Given the description of an element on the screen output the (x, y) to click on. 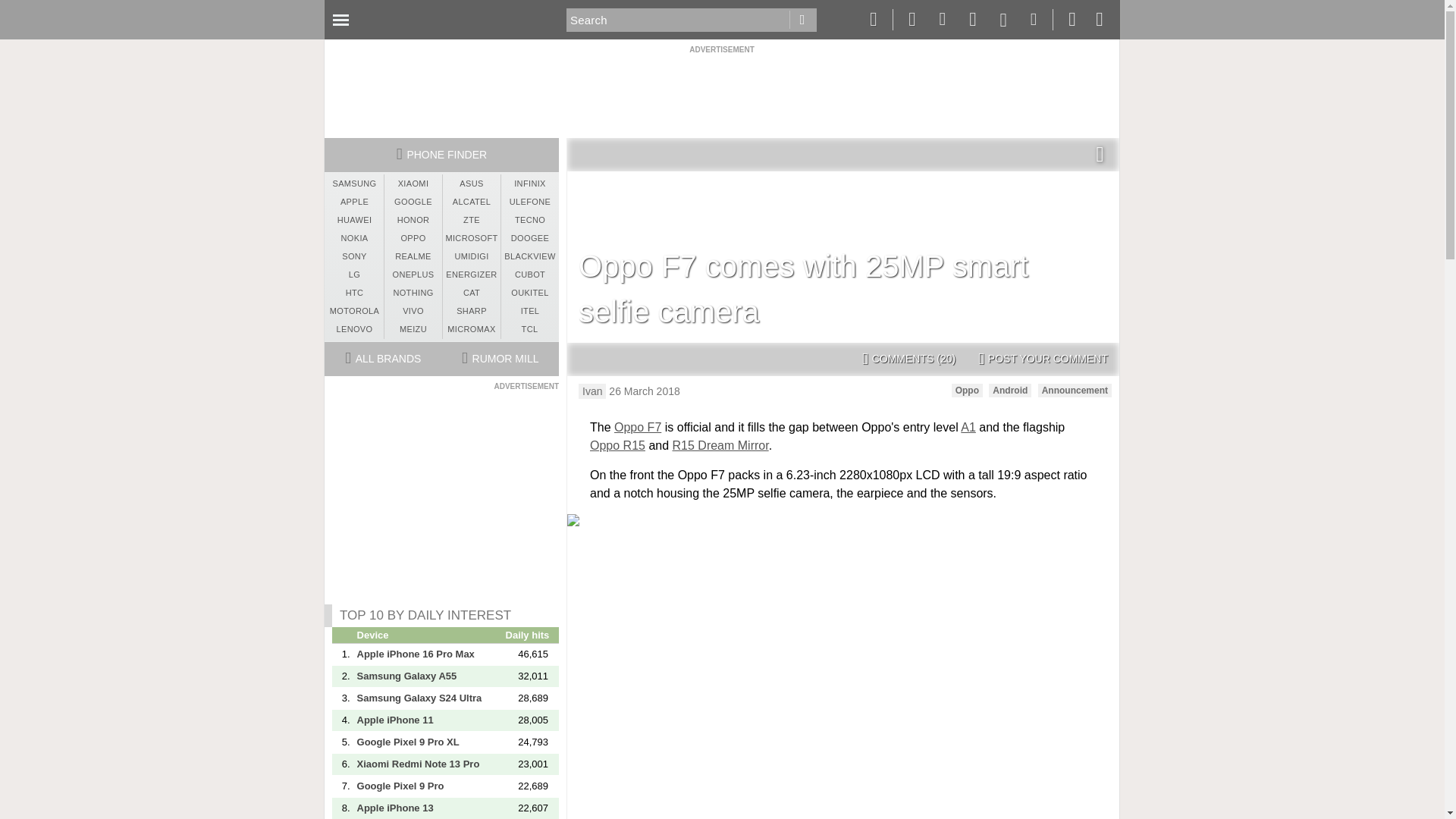
POST YOUR COMMENT (1042, 359)
Android (1009, 390)
Announcement (1075, 390)
Oppo F7 (637, 427)
Oppo (967, 390)
Ivan (591, 391)
Go (802, 19)
R15 Dream Mirror (720, 445)
A1 (967, 427)
Oppo R15 (617, 445)
